Given the description of an element on the screen output the (x, y) to click on. 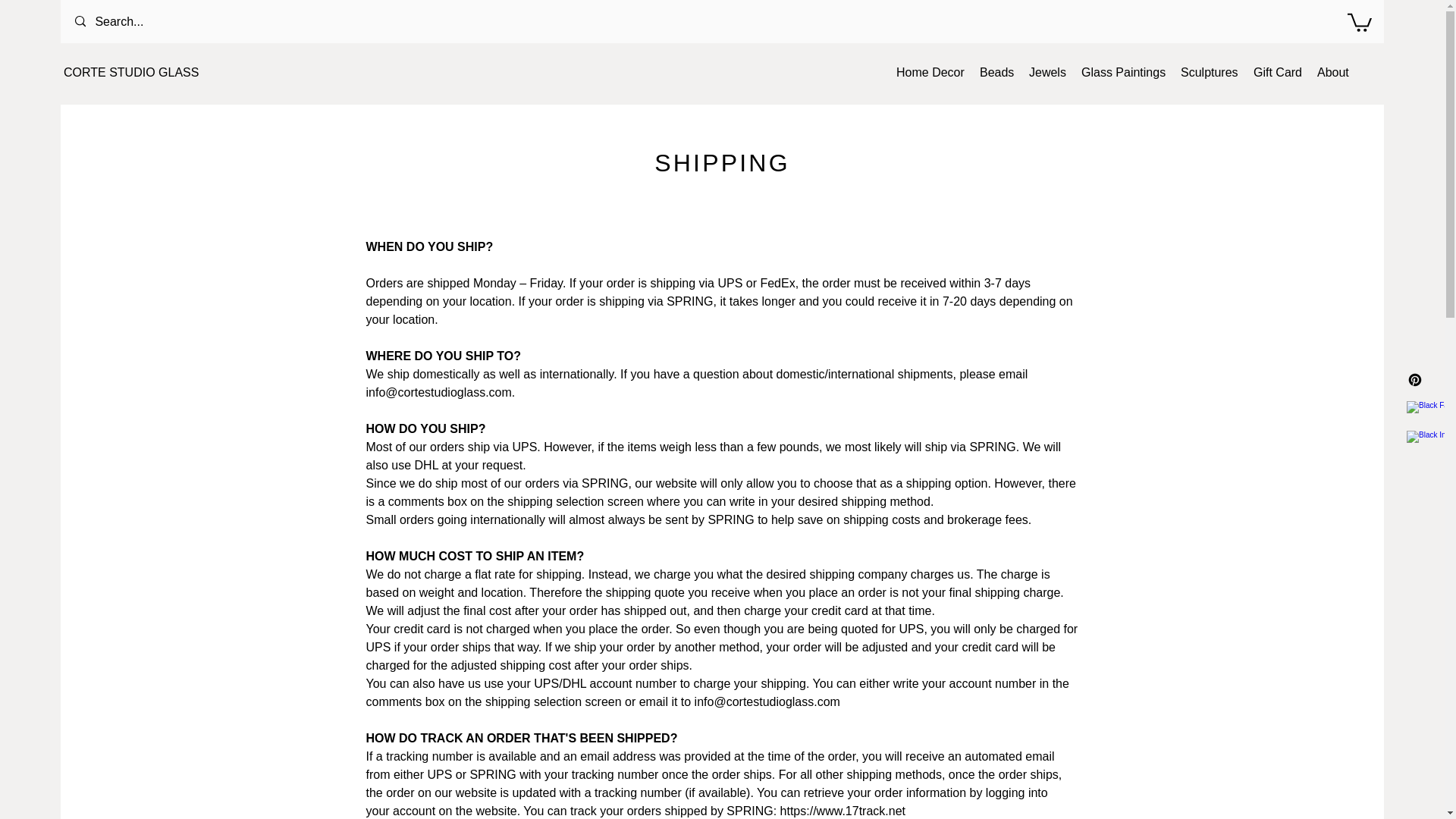
Sculptures (1209, 72)
CORTE STUDIO GLASS (131, 72)
Glass Paintings (1123, 72)
Gift Card (1277, 72)
About (1332, 72)
Beads (997, 72)
